Given the description of an element on the screen output the (x, y) to click on. 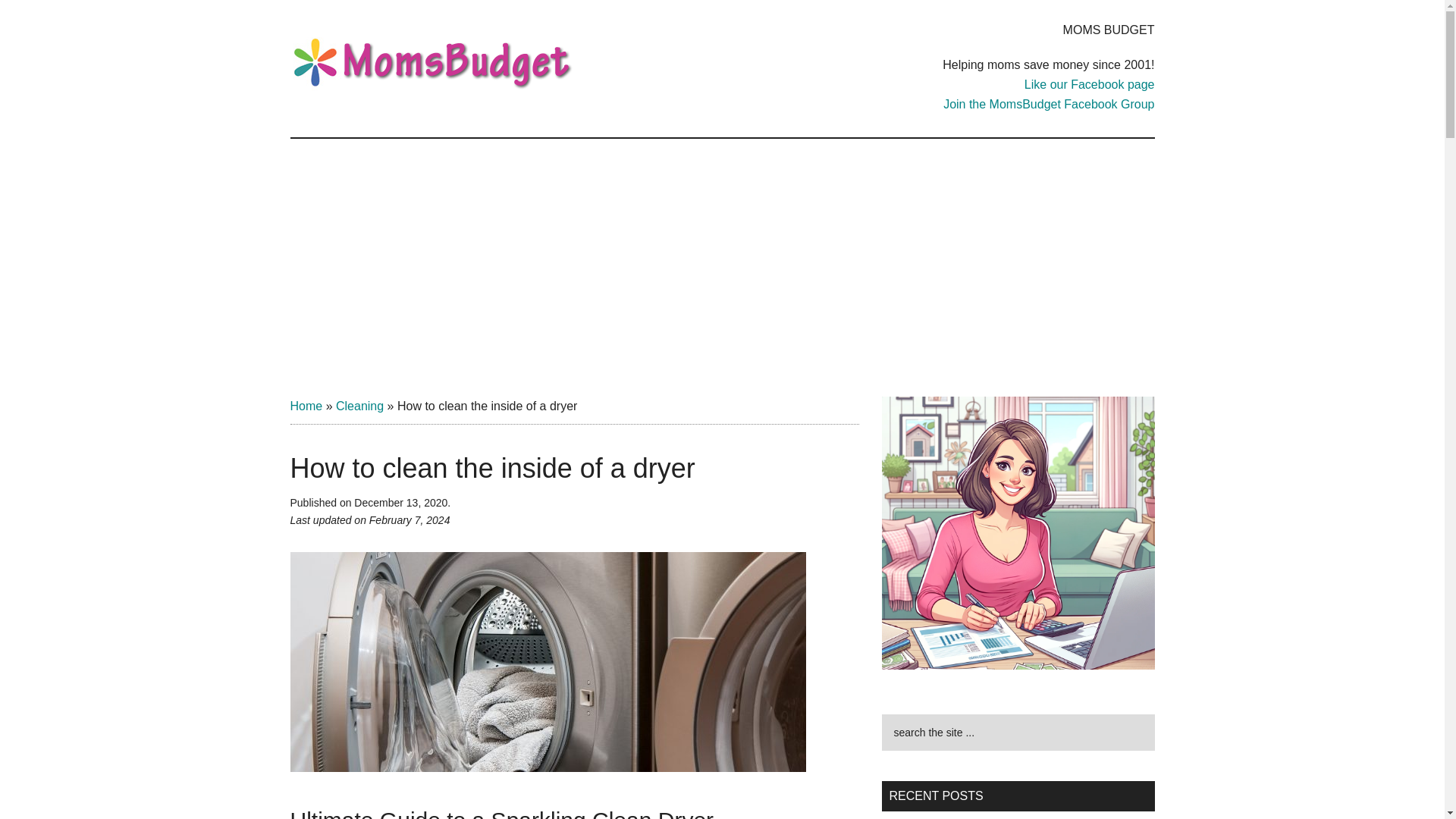
Join the MomsBudget Facebook Group (1048, 103)
Like our Facebook page (1089, 83)
Home (305, 405)
Cleaning (360, 405)
